Given the description of an element on the screen output the (x, y) to click on. 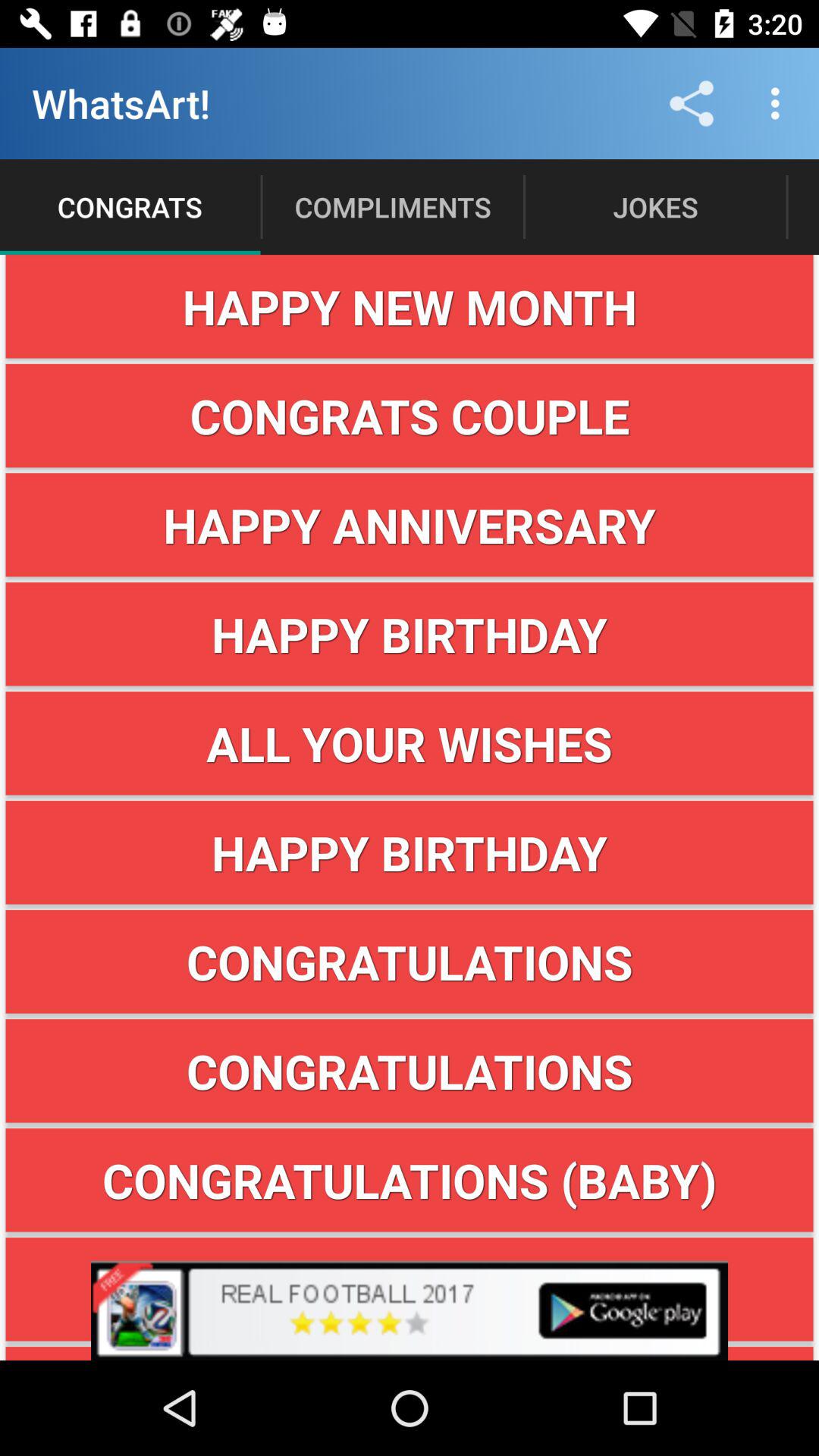
click the icon above the happy birthday item (409, 743)
